Given the description of an element on the screen output the (x, y) to click on. 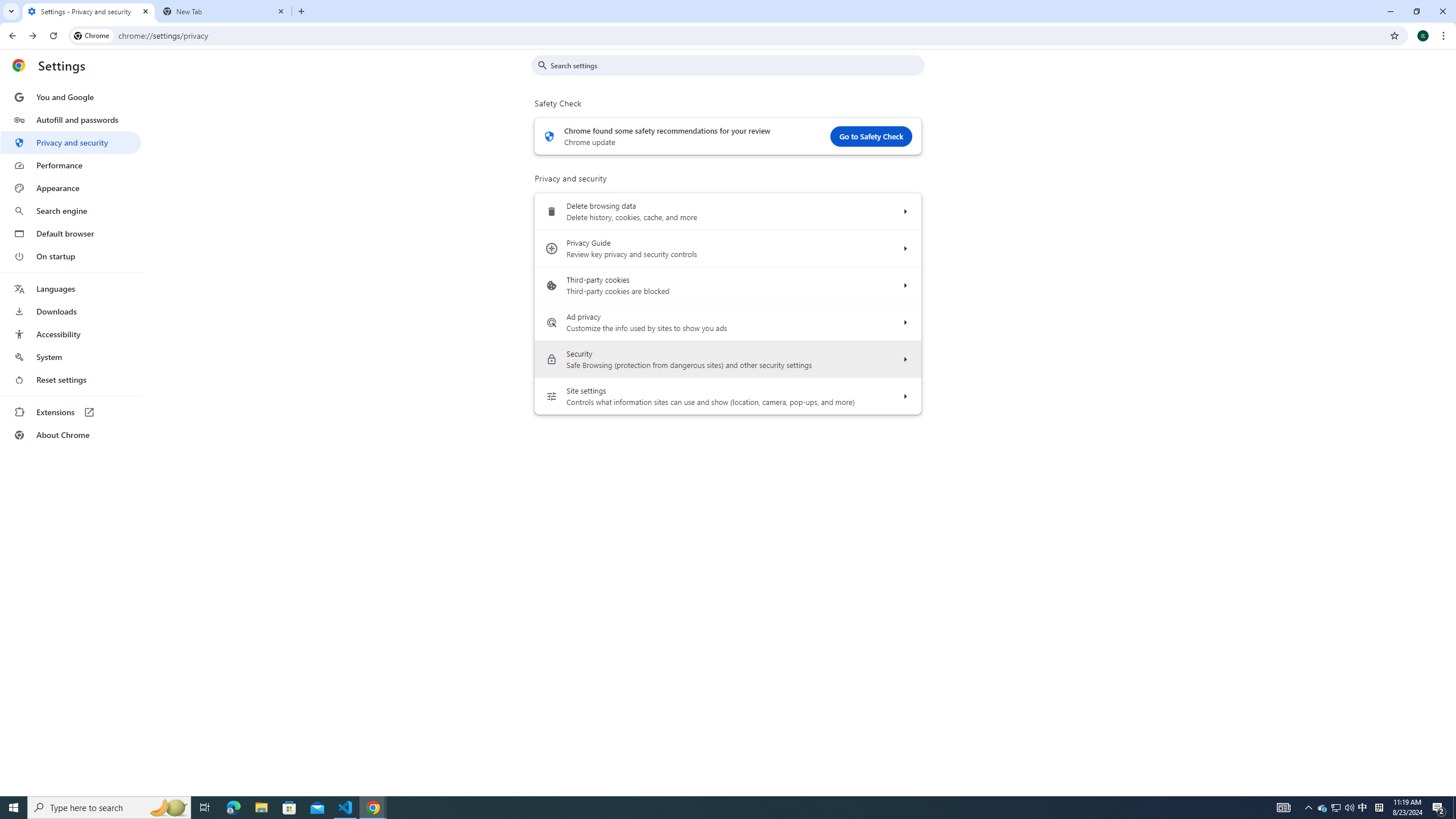
New Tab (224, 11)
Privacy and security (70, 142)
About Chrome (70, 434)
Autofill and passwords (70, 119)
Accessibility (70, 333)
AutomationID: menu (71, 265)
Default browser (70, 233)
On startup (70, 255)
